Given the description of an element on the screen output the (x, y) to click on. 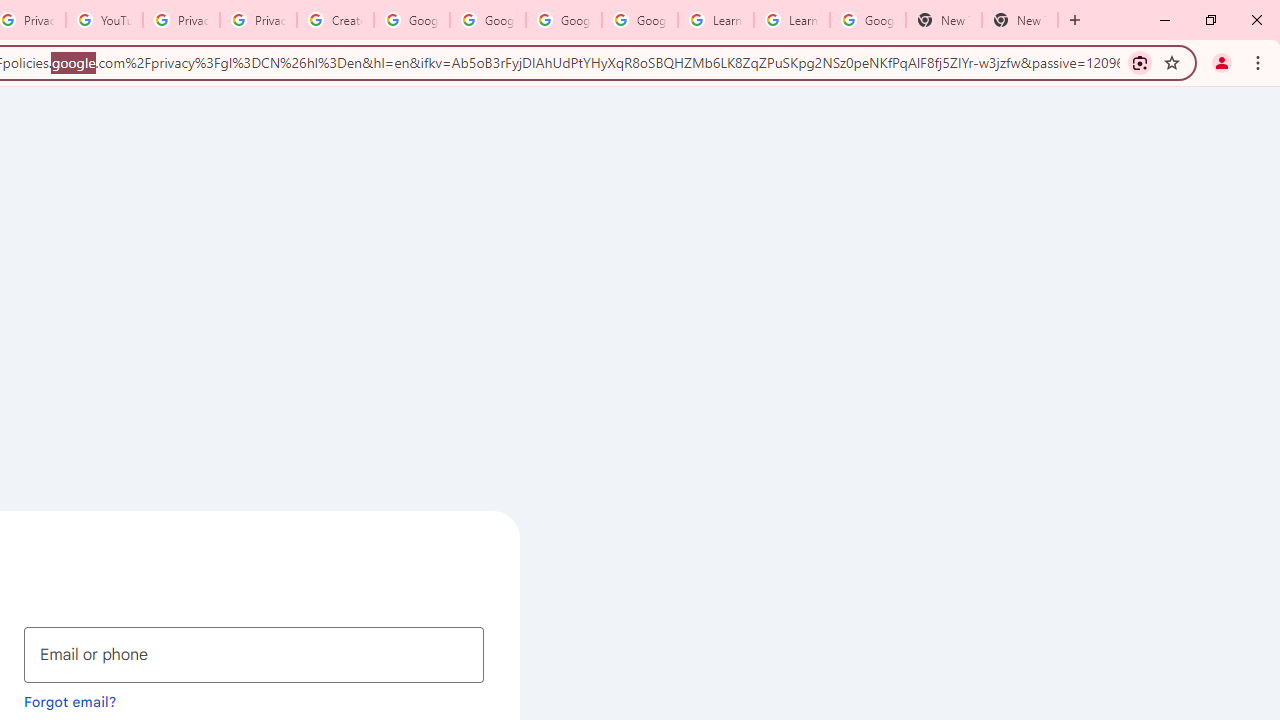
New Tab (943, 20)
Google Account Help (488, 20)
Forgot email? (70, 701)
Google Account Help (639, 20)
Search with Google Lens (1139, 62)
Google Account Help (411, 20)
Google Account (867, 20)
Email or phone (253, 654)
